Given the description of an element on the screen output the (x, y) to click on. 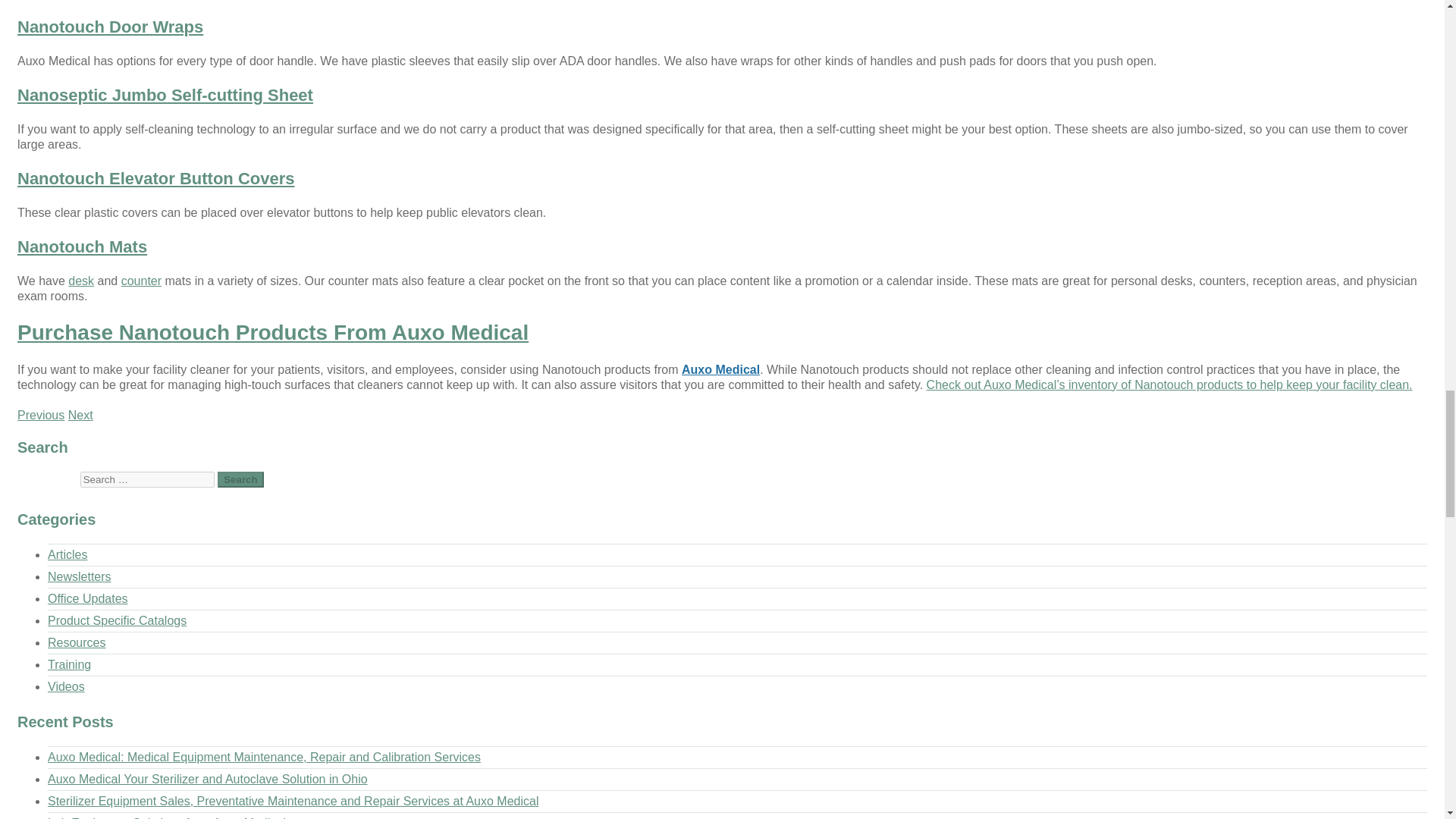
Search (239, 479)
Search (239, 479)
